Given the description of an element on the screen output the (x, y) to click on. 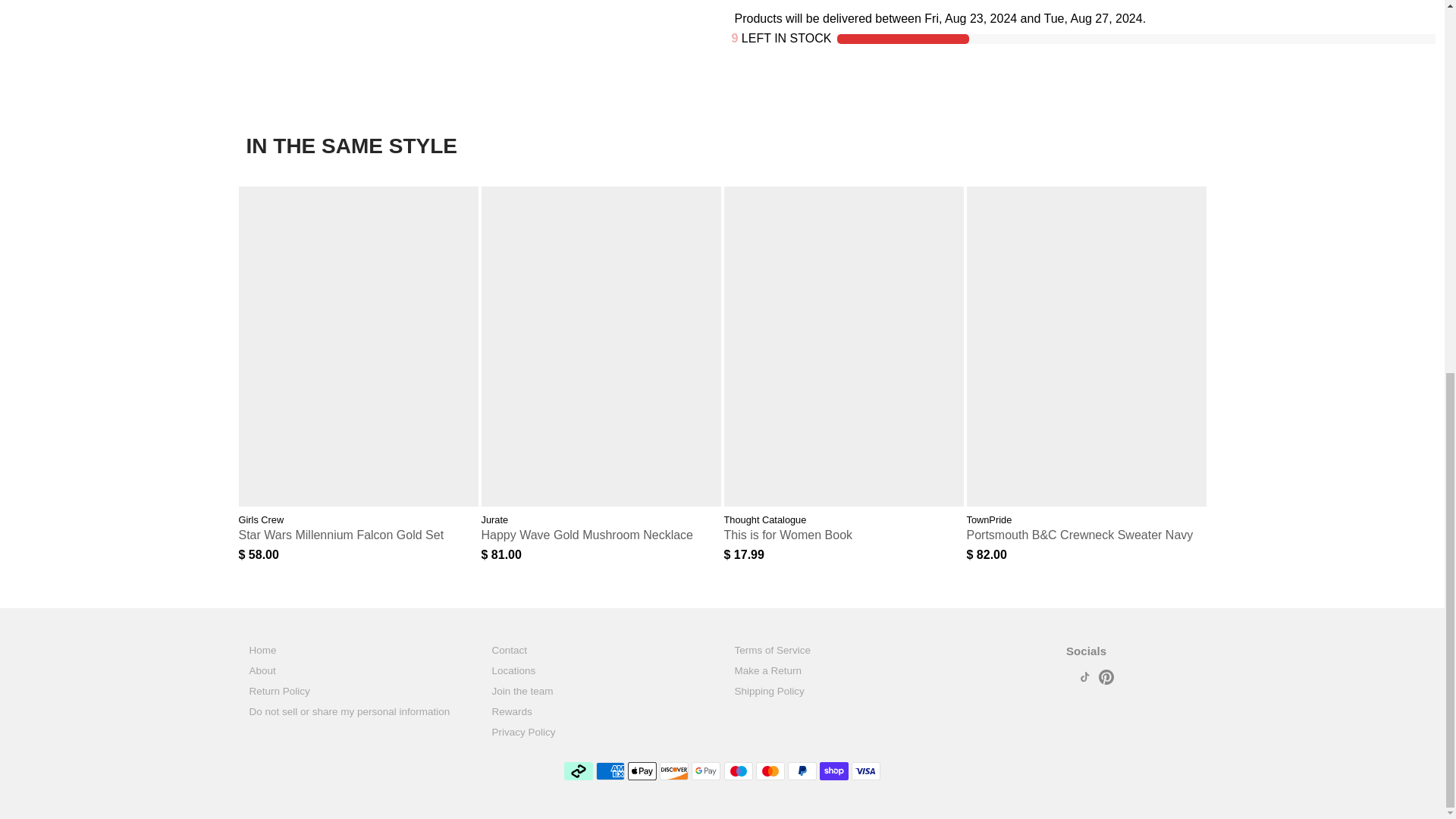
Mastercard (769, 771)
Apple Pay (641, 771)
Discover (673, 771)
Afterpay (578, 771)
American Express (609, 771)
Shop Pay (833, 771)
PayPal (801, 771)
Google Pay (705, 771)
Visa (865, 771)
Maestro (737, 771)
